Given the description of an element on the screen output the (x, y) to click on. 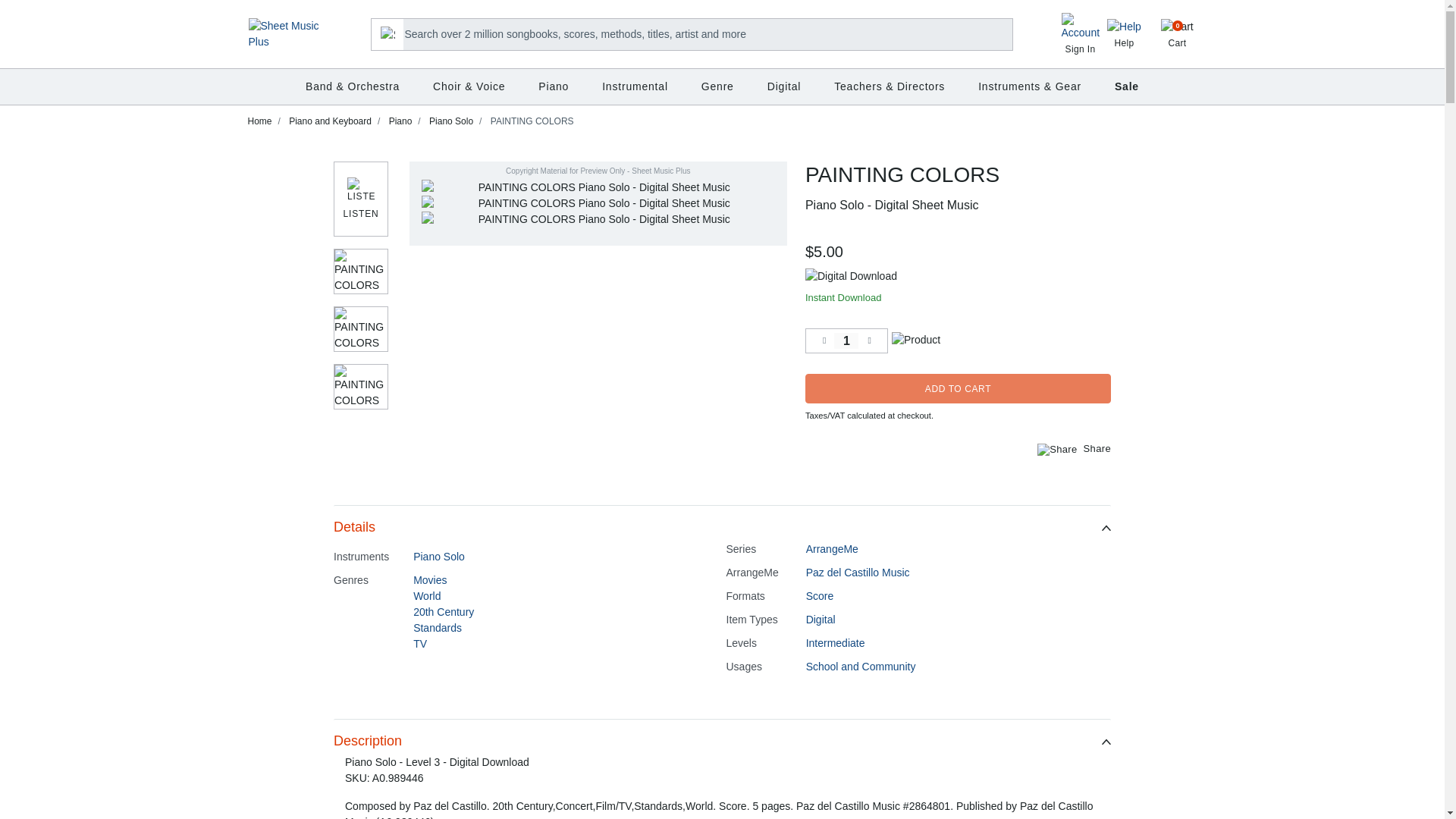
PAINTING COLORS (598, 187)
1 (846, 340)
Sign In (1080, 37)
PAINTING COLORS (598, 203)
PAINTING COLORS (360, 329)
Help (1123, 34)
PAINTING COLORS (360, 271)
Cart 0 Items (1177, 33)
PAINTING COLORS (1177, 33)
PAINTING COLORS (360, 386)
Sheet Music Plus Home (598, 219)
